Given the description of an element on the screen output the (x, y) to click on. 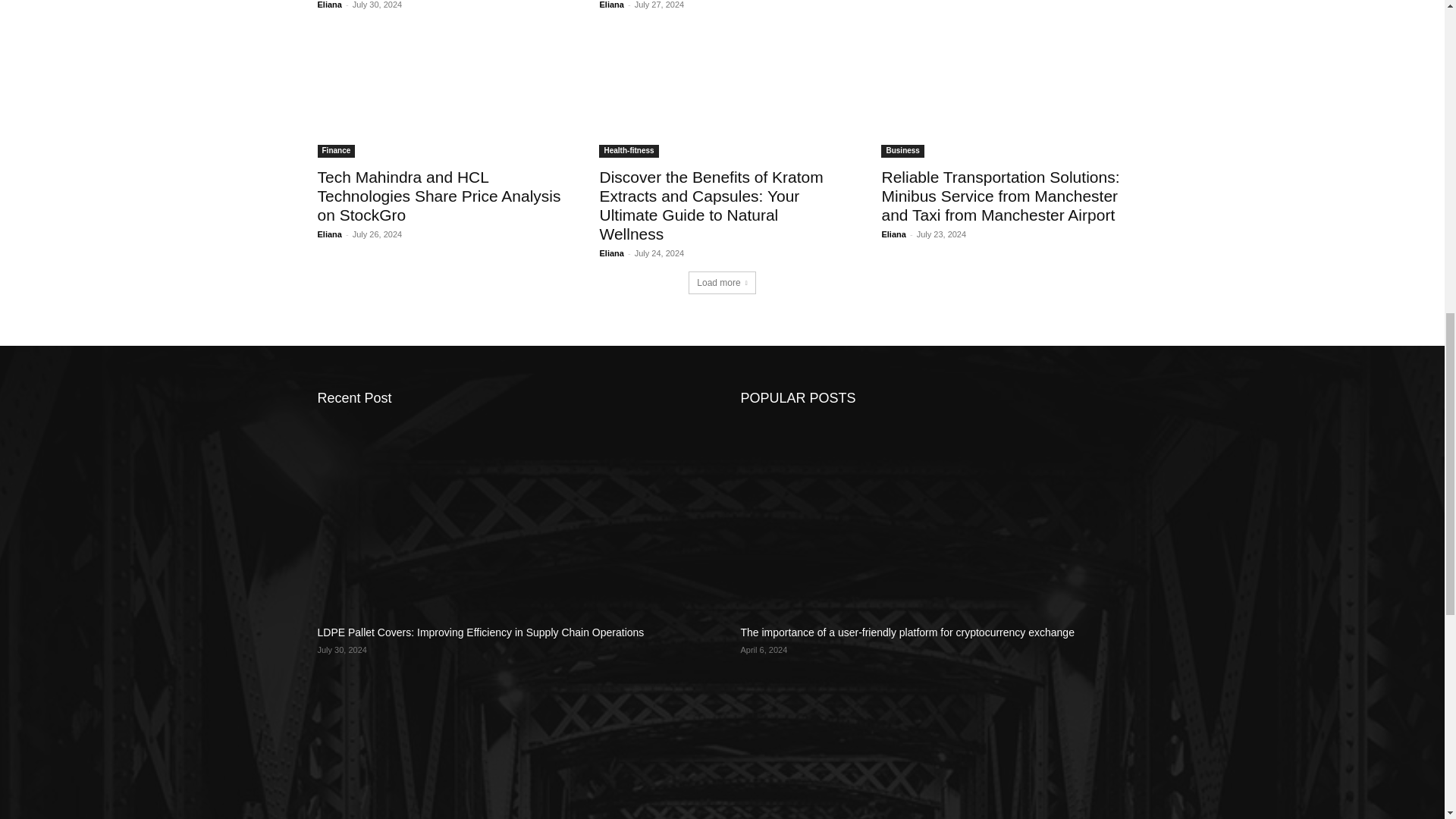
Finance (336, 151)
Eliana (610, 4)
Eliana (328, 4)
